Given the description of an element on the screen output the (x, y) to click on. 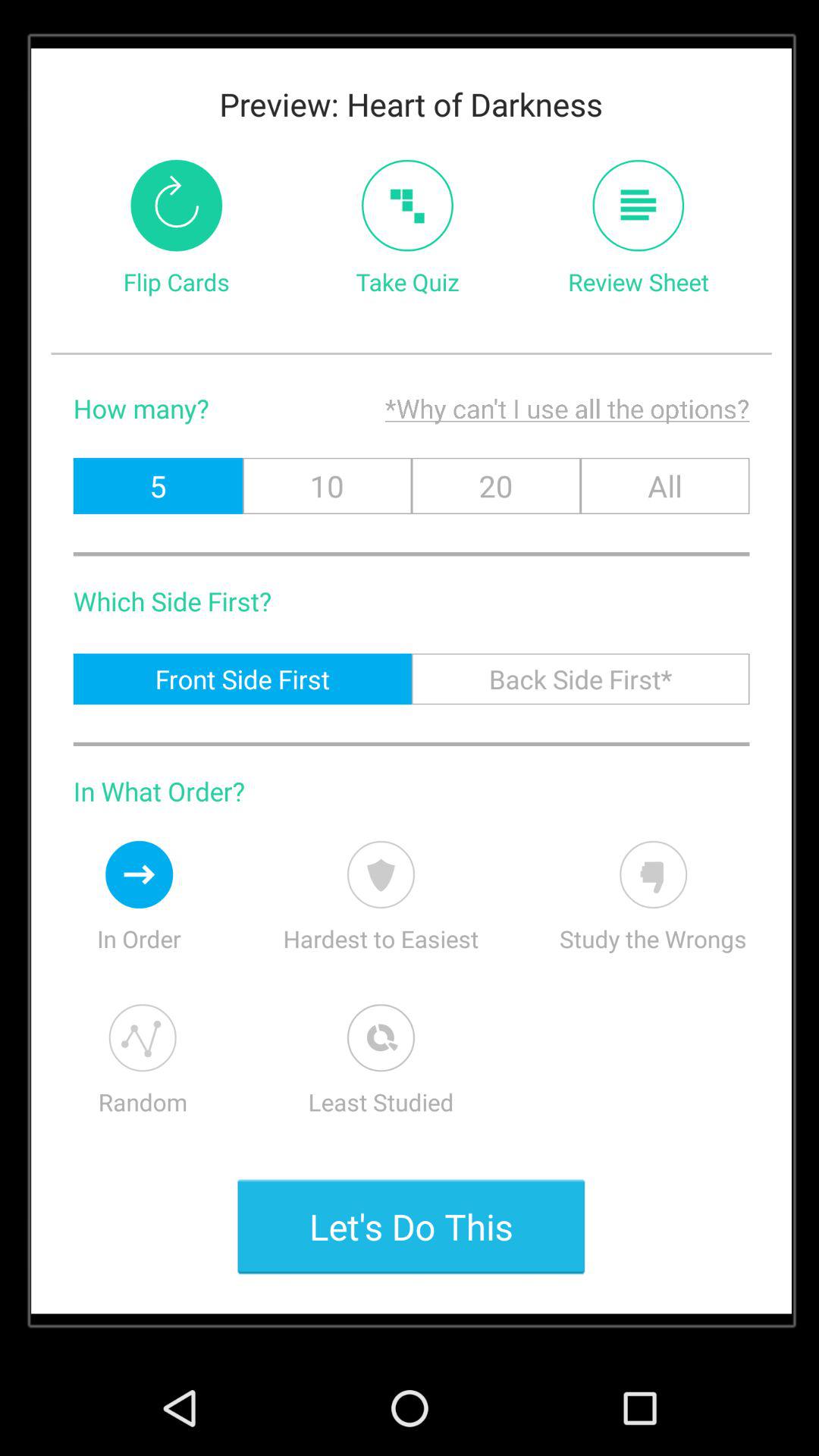
take a quiz (407, 205)
